Given the description of an element on the screen output the (x, y) to click on. 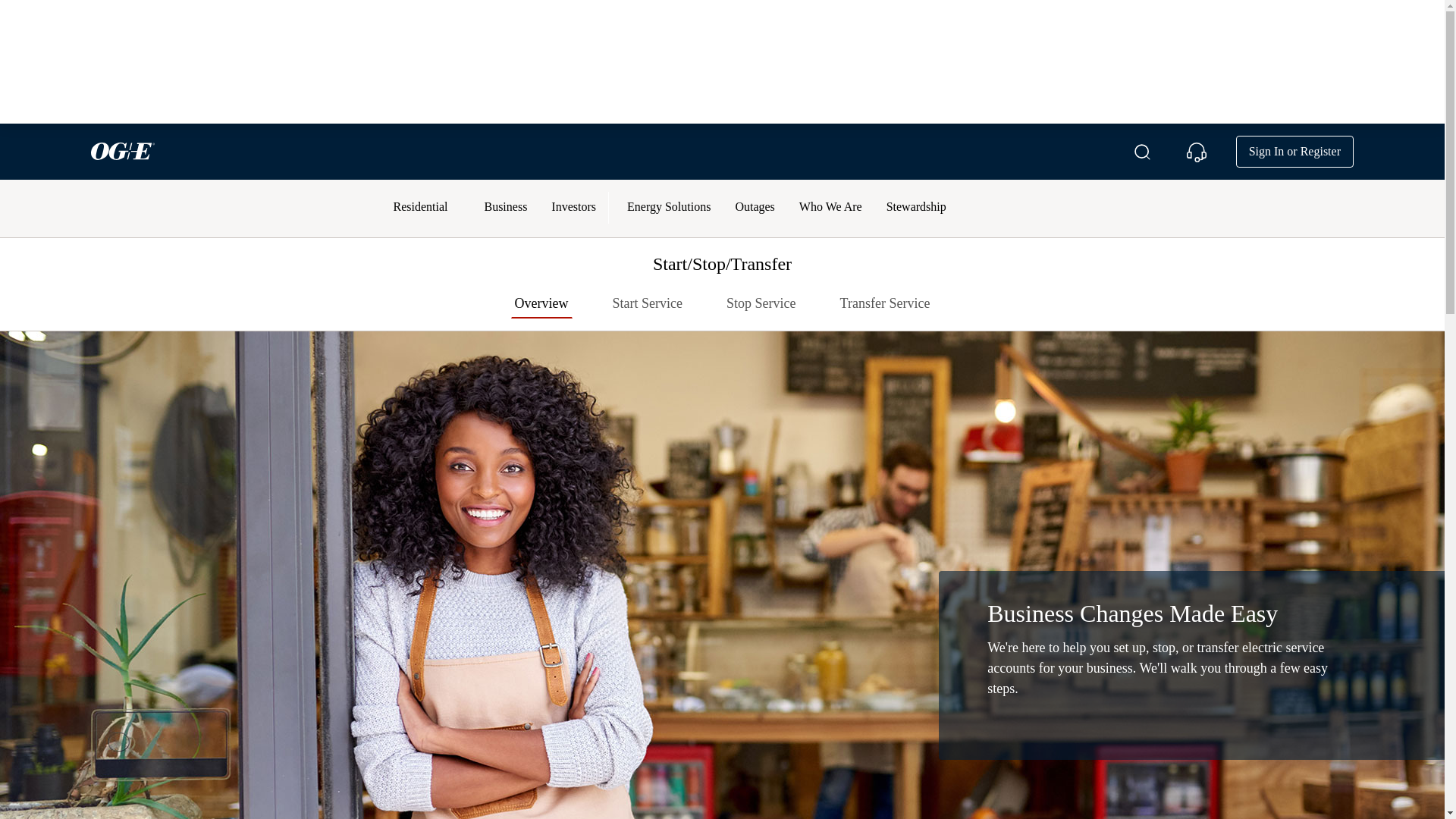
Who We Are (831, 208)
Business (504, 208)
Residential (420, 208)
Sign In or Register (1295, 151)
Outages (754, 208)
Investors (573, 208)
Energy Solutions (668, 208)
